Given the description of an element on the screen output the (x, y) to click on. 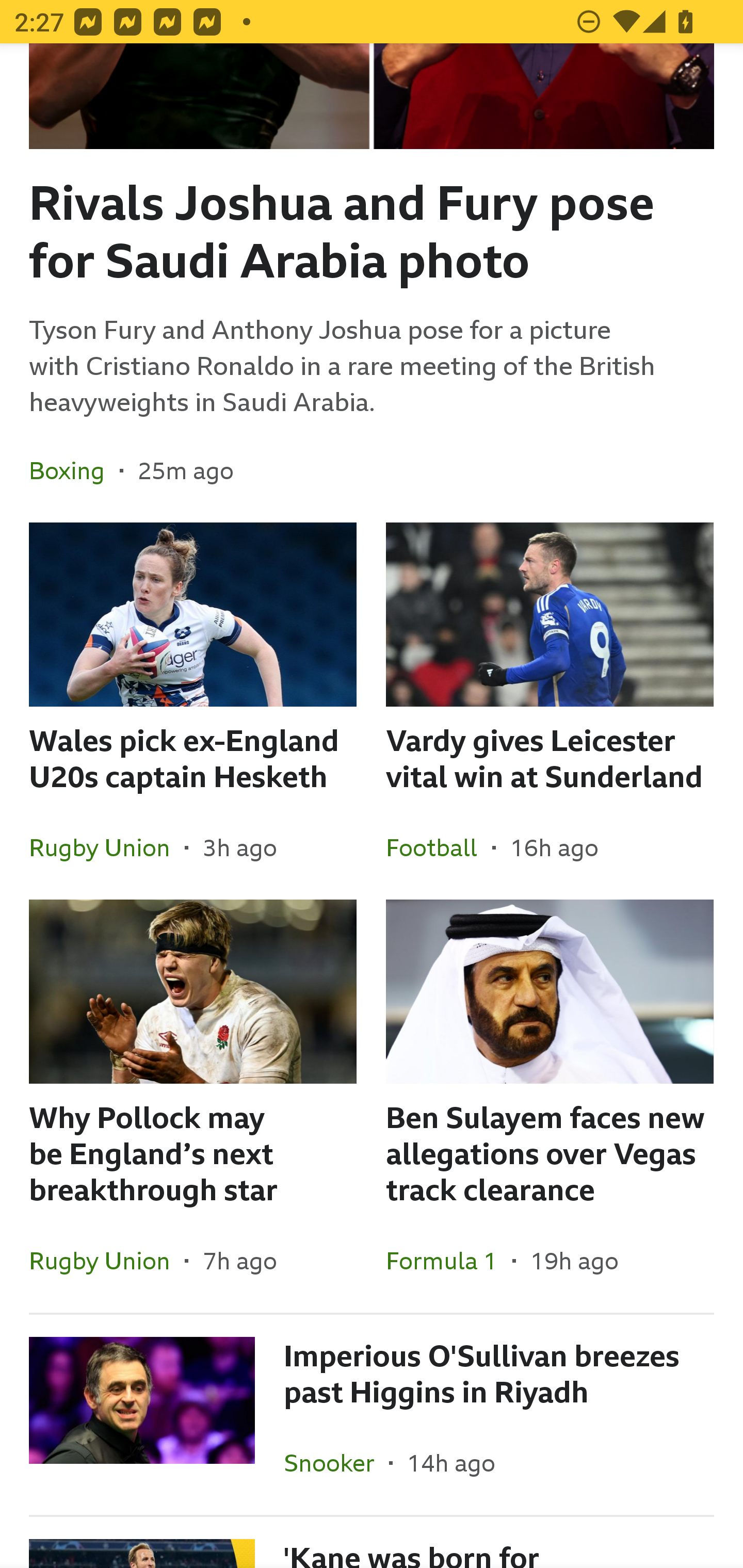
Boxing In the section Boxing (73, 470)
Rugby Union In the section Rugby Union (106, 847)
Football In the section Football (438, 847)
Rugby Union In the section Rugby Union (106, 1260)
Formula 1 In the section Formula 1 (448, 1260)
Snooker In the section Snooker (336, 1462)
